Given the description of an element on the screen output the (x, y) to click on. 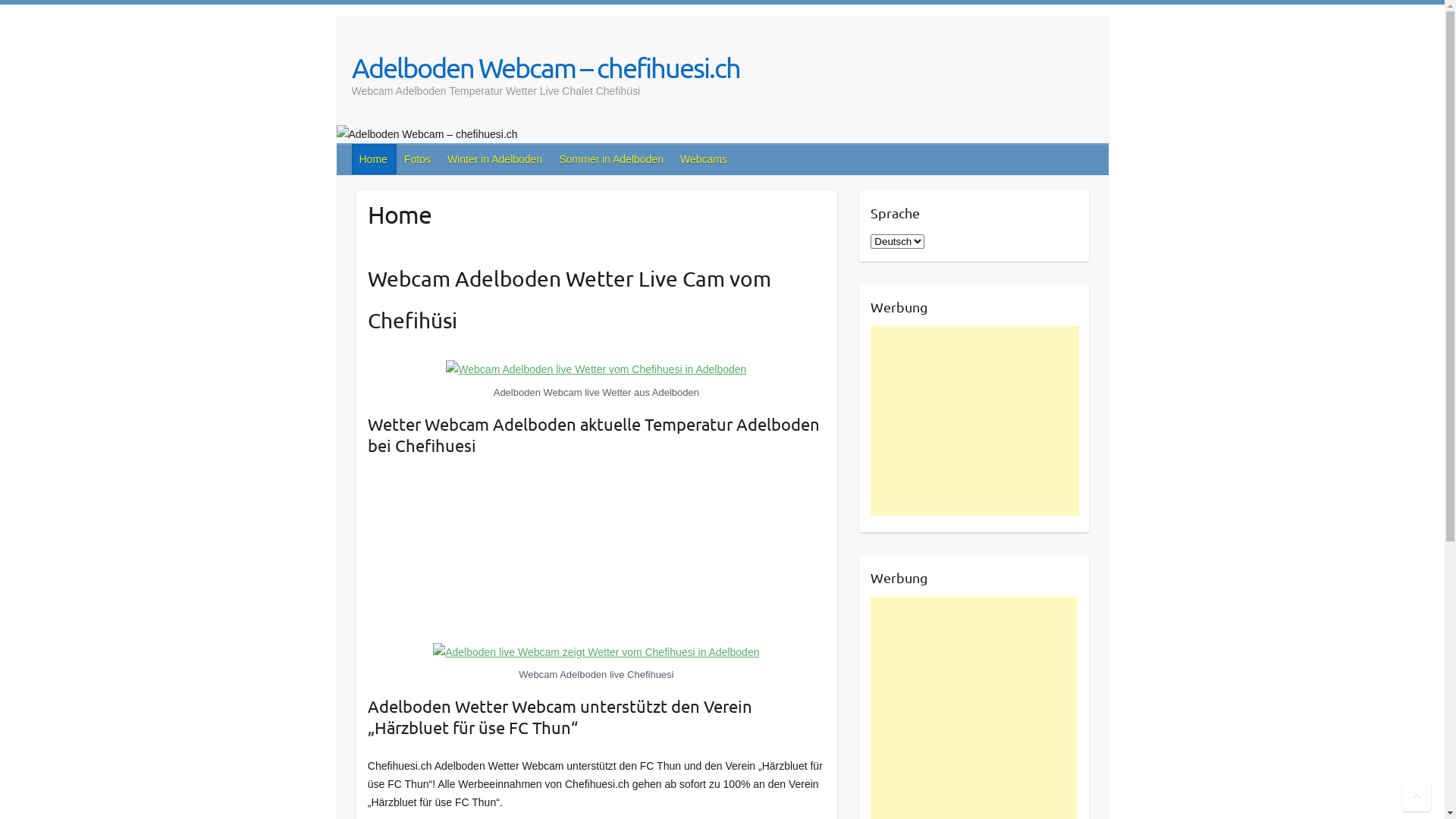
Fotos Element type: text (417, 159)
Sommer in Adelboden Element type: text (611, 159)
Winter in Adelboden Element type: text (495, 159)
Home Element type: text (373, 159)
Advertisement Element type: hover (974, 420)
Webcams Element type: text (704, 159)
